Given the description of an element on the screen output the (x, y) to click on. 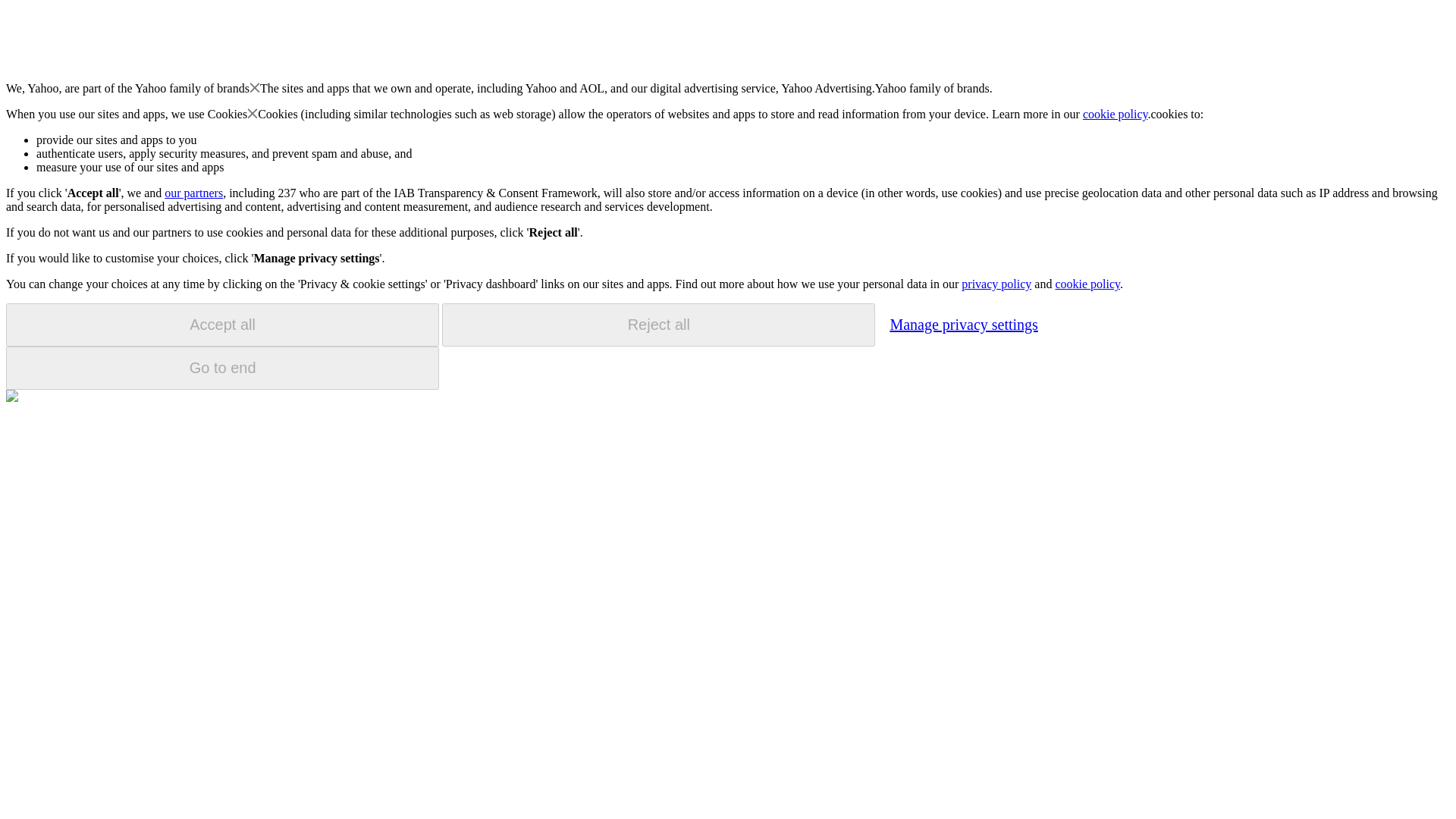
Manage privacy settings (963, 323)
our partners (193, 192)
cookie policy (1115, 113)
Reject all (658, 324)
Go to end (222, 367)
Accept all (222, 324)
privacy policy (995, 283)
cookie policy (1086, 283)
